Given the description of an element on the screen output the (x, y) to click on. 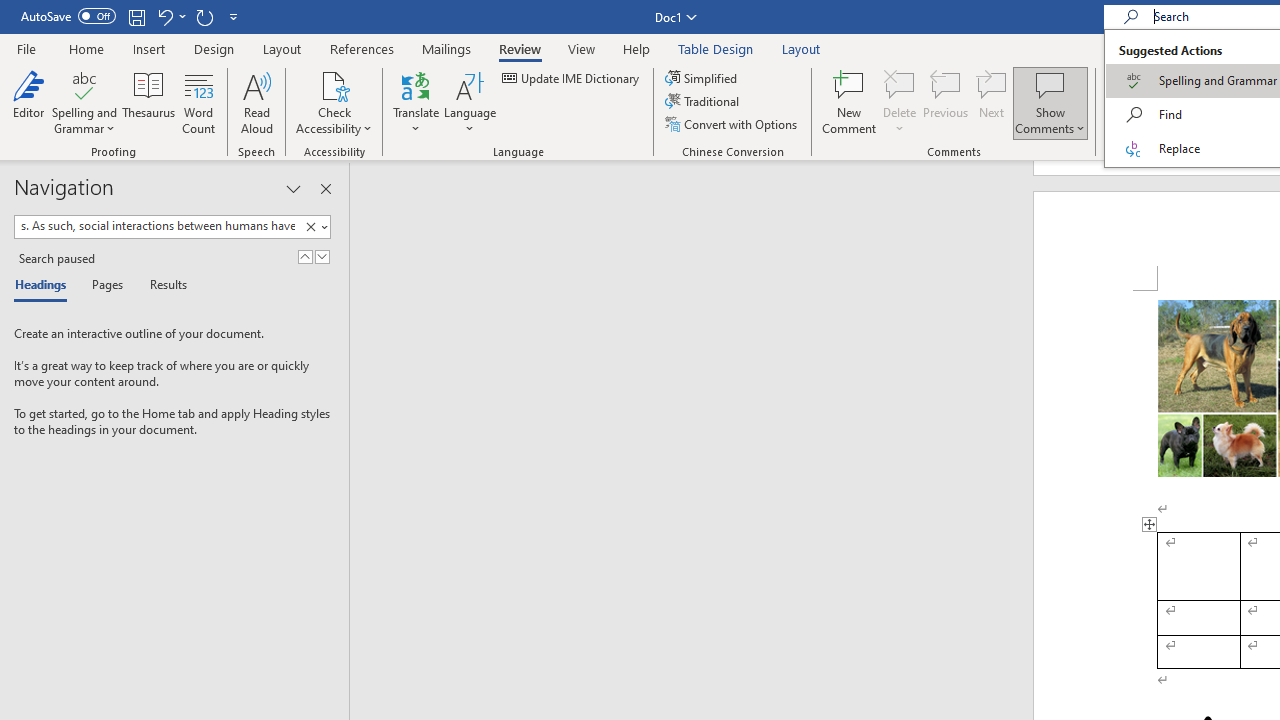
New Comment (849, 102)
Update IME Dictionary... (572, 78)
Check Accessibility (334, 84)
Layout (801, 48)
Quick Access Toolbar (131, 16)
View (582, 48)
Pages (105, 285)
Close pane (325, 188)
Headings (45, 285)
Help (637, 48)
Clear (310, 227)
Check Accessibility (334, 102)
Show Comments (1050, 102)
